Given the description of an element on the screen output the (x, y) to click on. 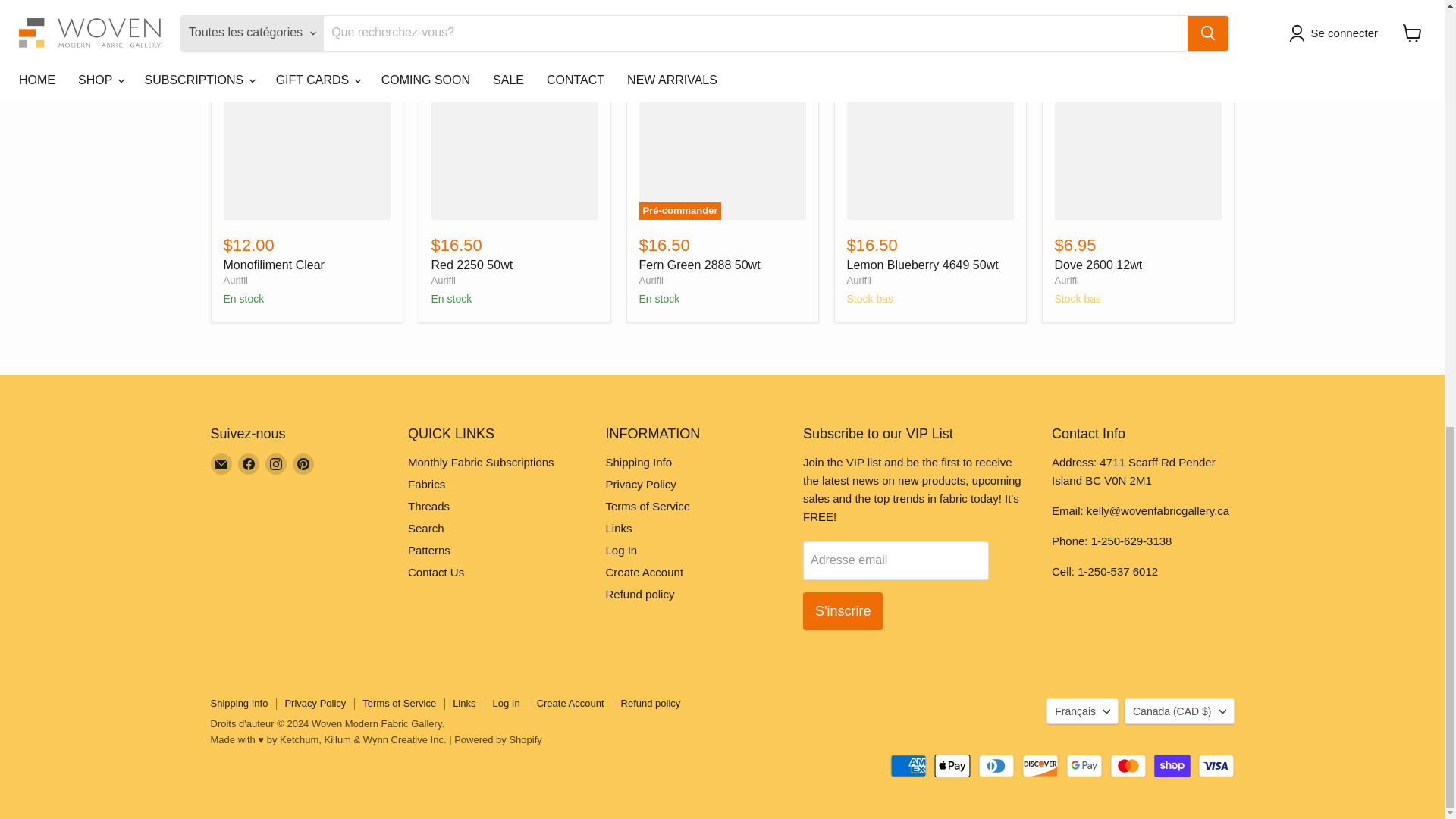
Aurifil (442, 279)
Aurifil (857, 279)
Email (221, 464)
Aurifil (651, 279)
Aurifil (1066, 279)
Aurifil (234, 279)
